Given the description of an element on the screen output the (x, y) to click on. 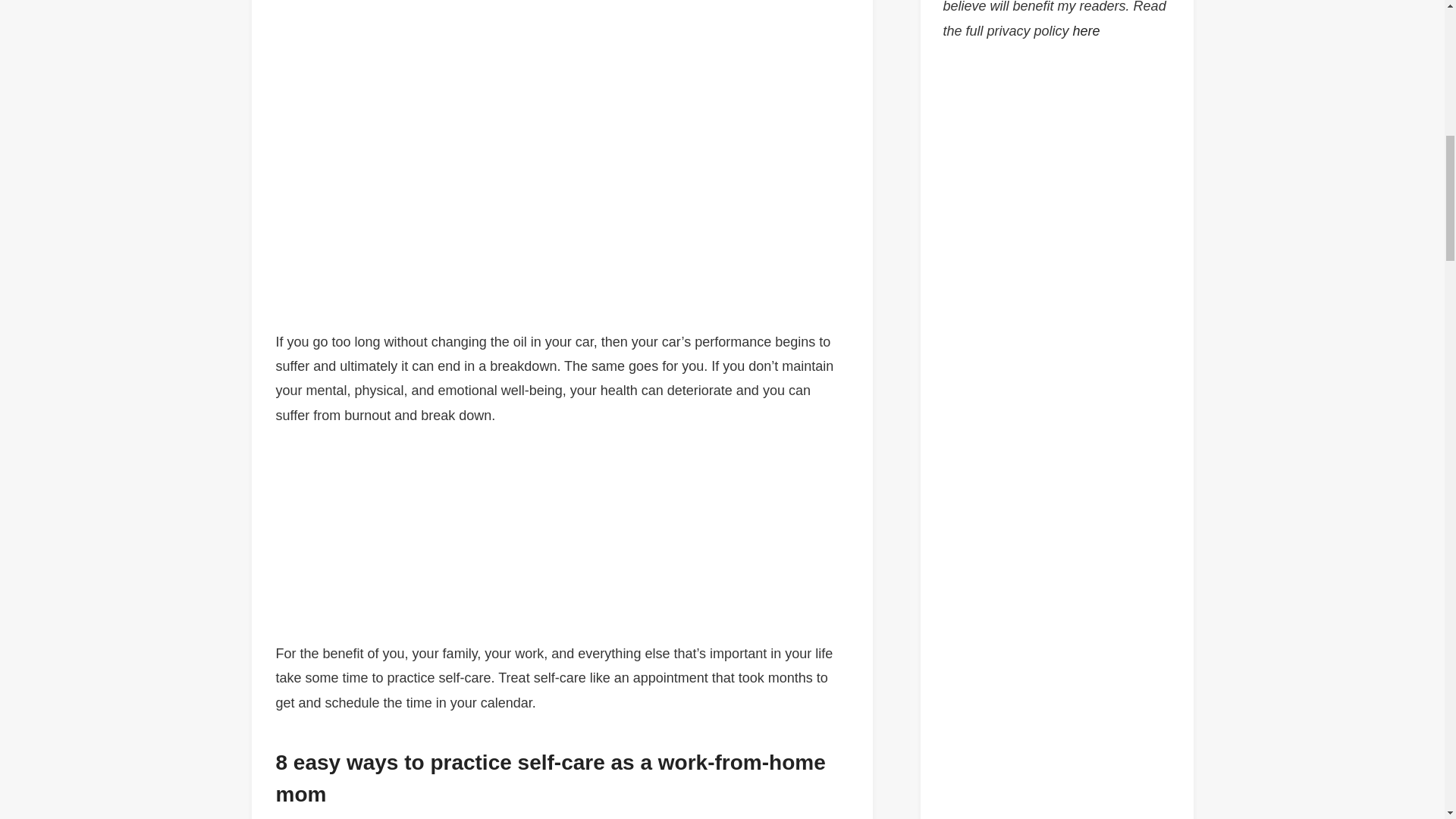
here (1086, 30)
